Given the description of an element on the screen output the (x, y) to click on. 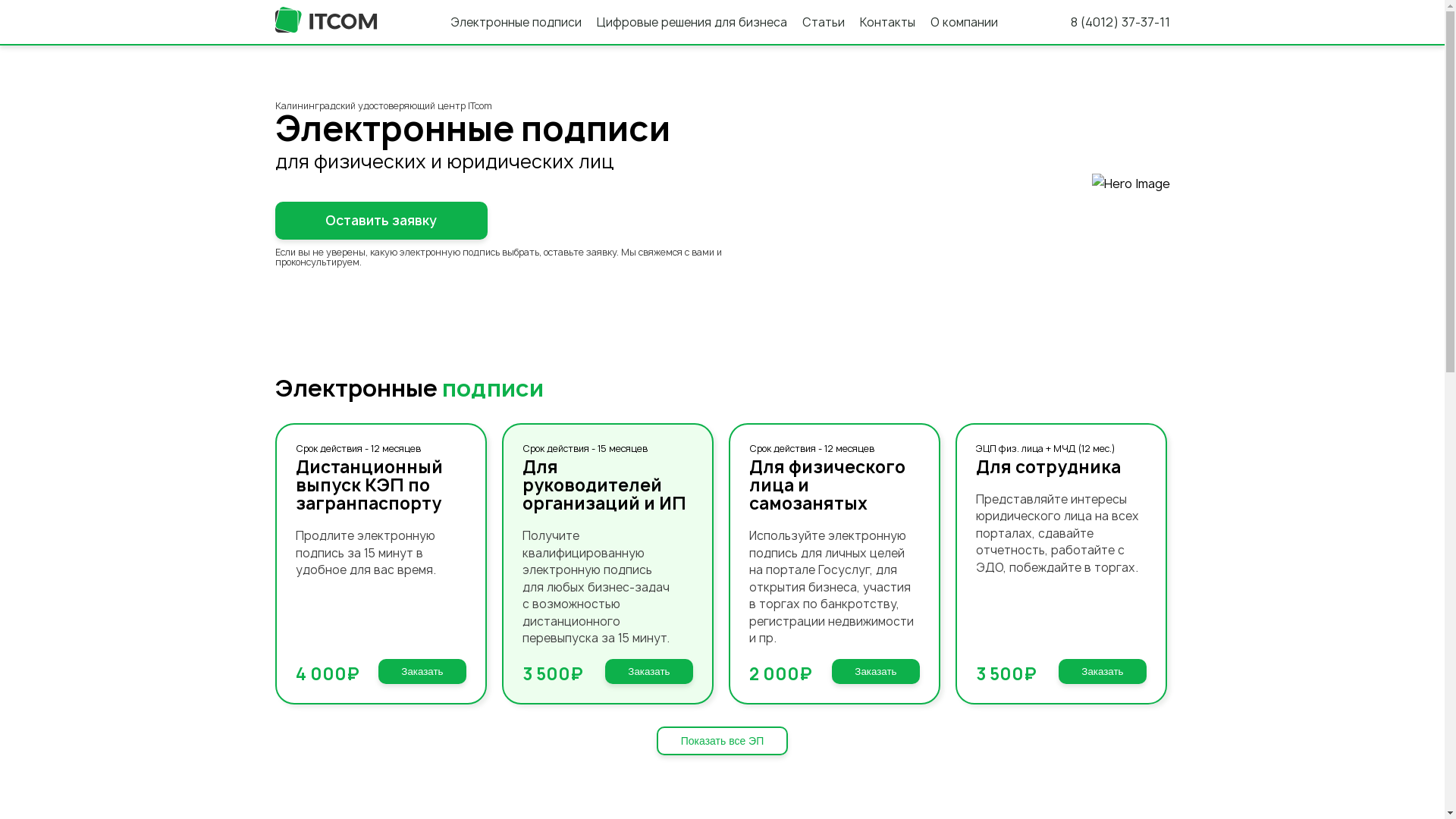
8 (4012) 37-37-11 Element type: text (1120, 22)
